Given the description of an element on the screen output the (x, y) to click on. 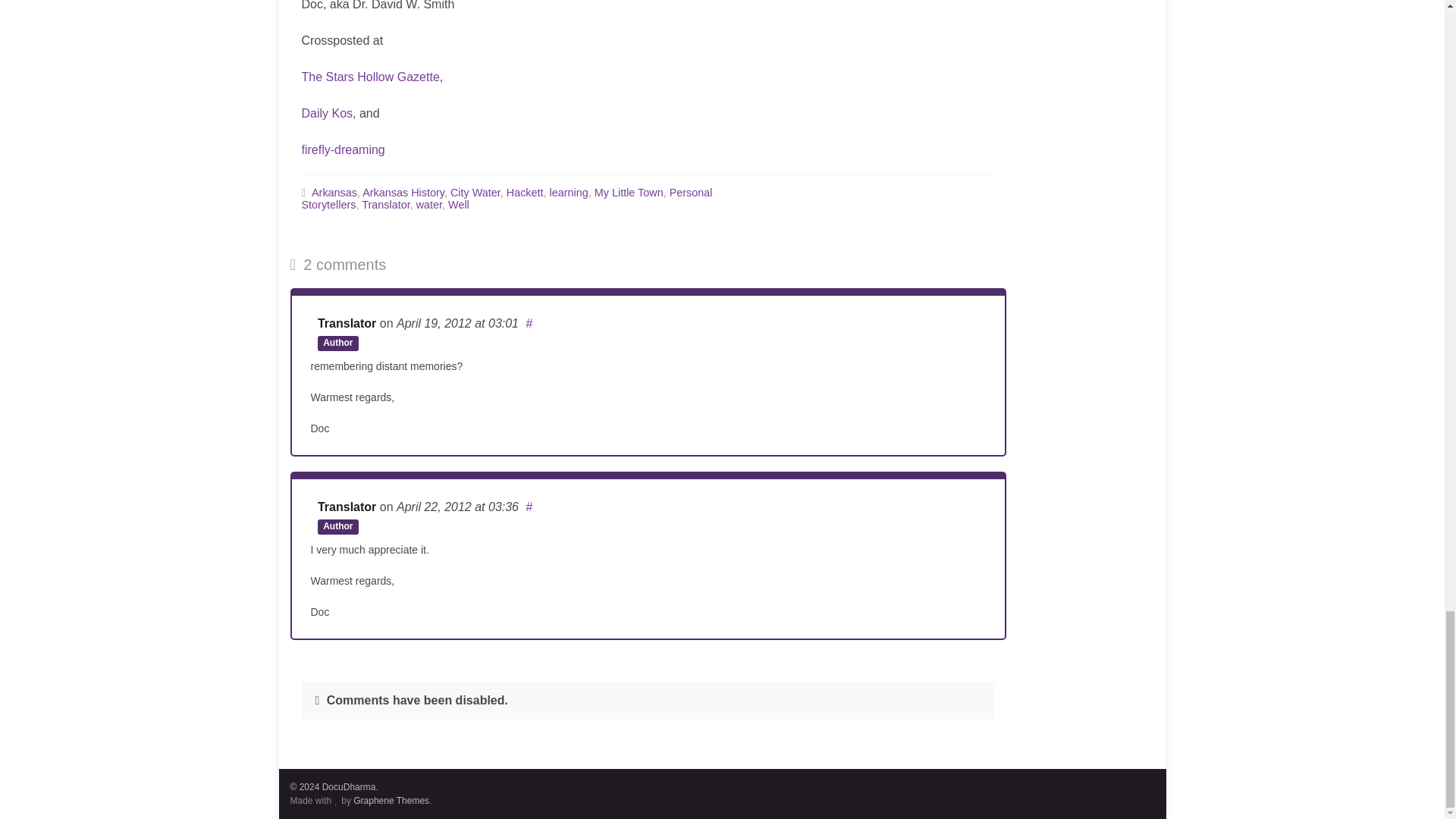
firefly-dreaming (343, 149)
City Water (474, 192)
Translator (346, 506)
Graphene Themes (391, 800)
water (429, 204)
Translator (346, 323)
The Stars Hollow Gazette (370, 76)
Well (458, 204)
Translator (385, 204)
Hackett (524, 192)
Personal Storytellers (507, 198)
Daily Kos (327, 113)
Arkansas History (403, 192)
learning (569, 192)
Arkansas (333, 192)
